Given the description of an element on the screen output the (x, y) to click on. 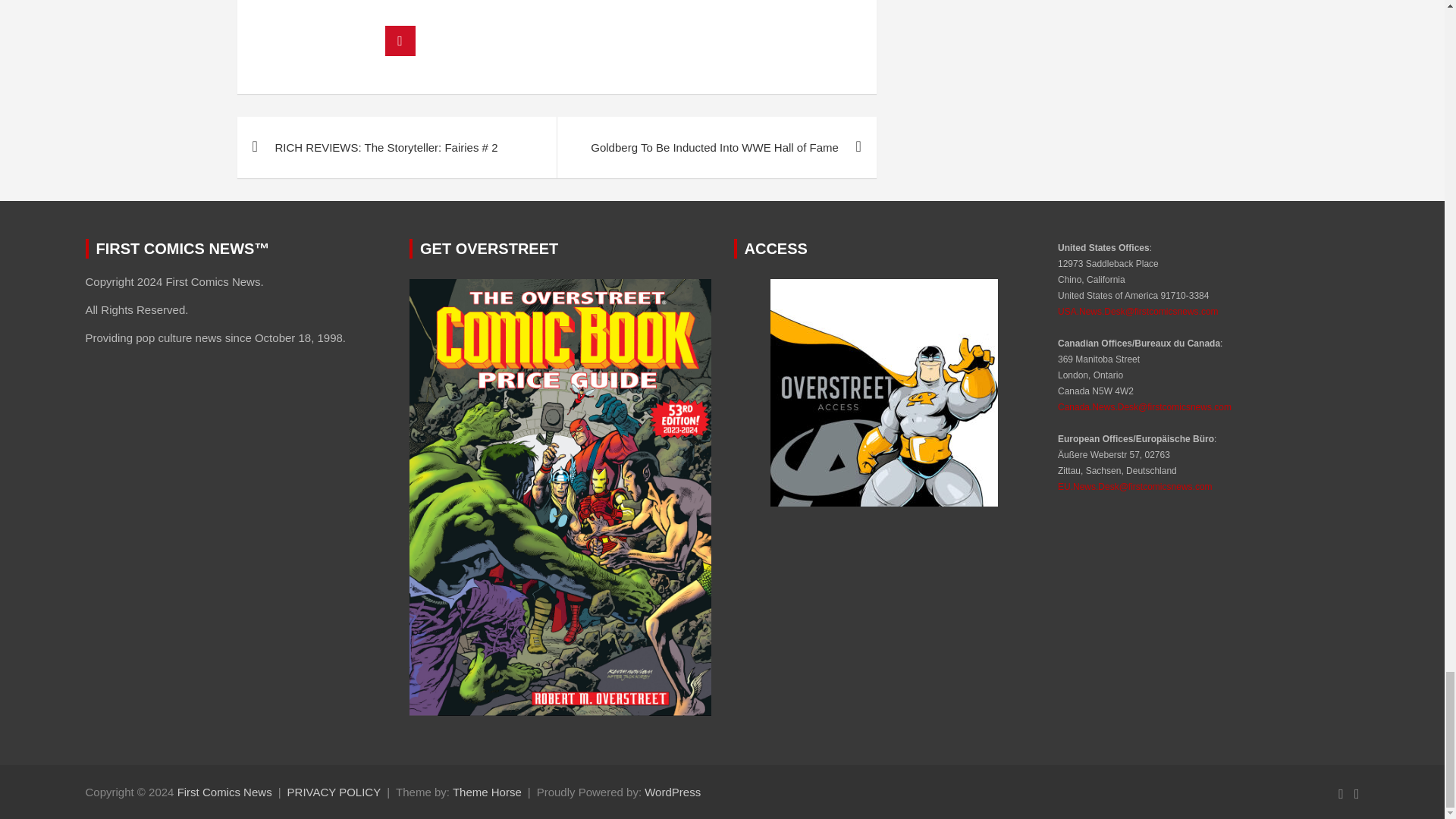
First Comics News (224, 791)
Theme Horse (486, 791)
WordPress (672, 791)
